Given the description of an element on the screen output the (x, y) to click on. 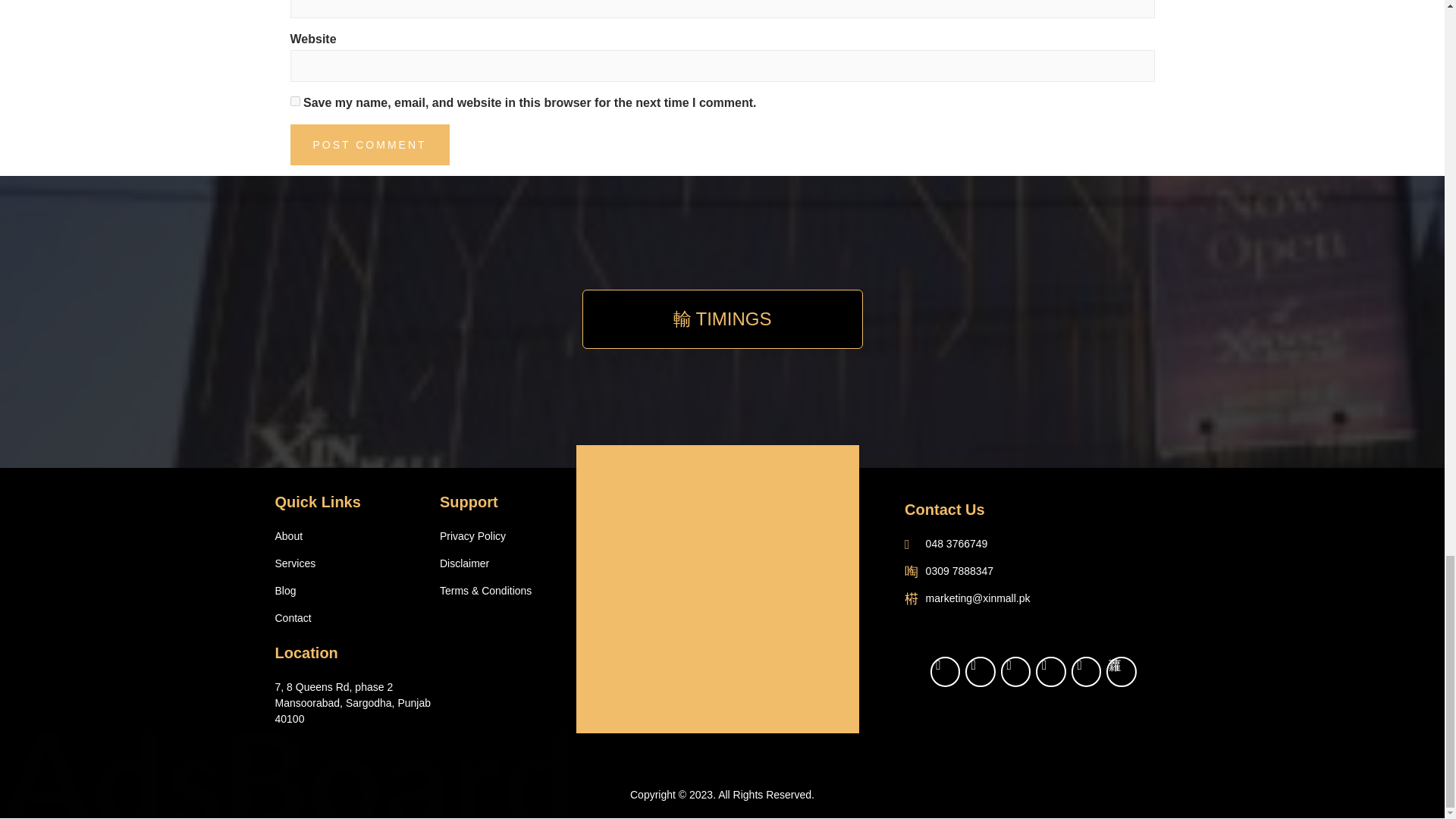
Contact (357, 618)
TIMINGS (722, 318)
Post Comment (368, 144)
Disclaimer (499, 563)
yes (294, 101)
About (357, 536)
Blog (357, 590)
048 3766749 (1032, 544)
Services (357, 563)
Privacy Policy (499, 536)
0309 7888347 (1032, 571)
Post Comment (368, 144)
